Given the description of an element on the screen output the (x, y) to click on. 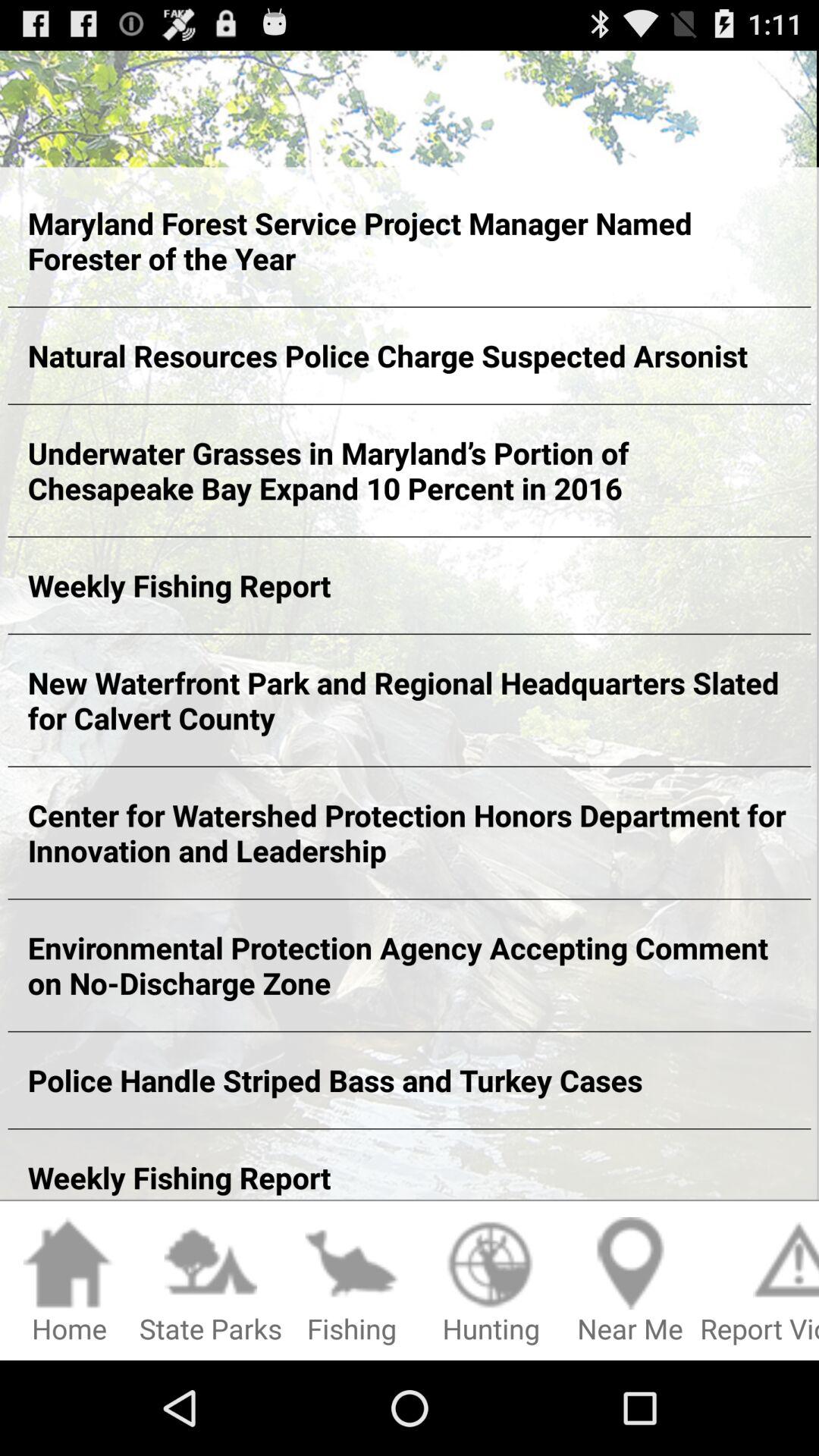
click report violation icon (759, 1282)
